Given the description of an element on the screen output the (x, y) to click on. 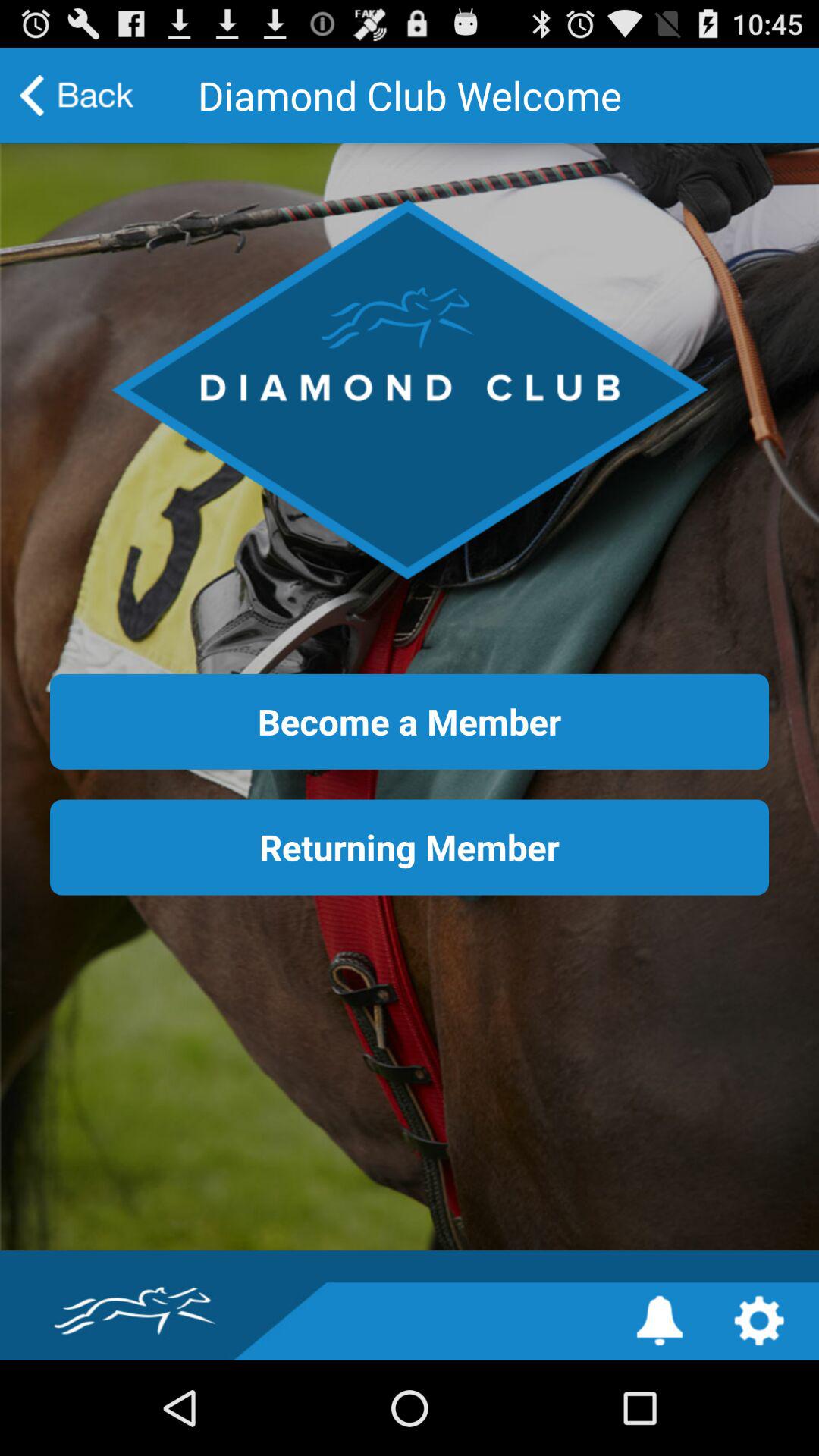
set alert (659, 1320)
